Given the description of an element on the screen output the (x, y) to click on. 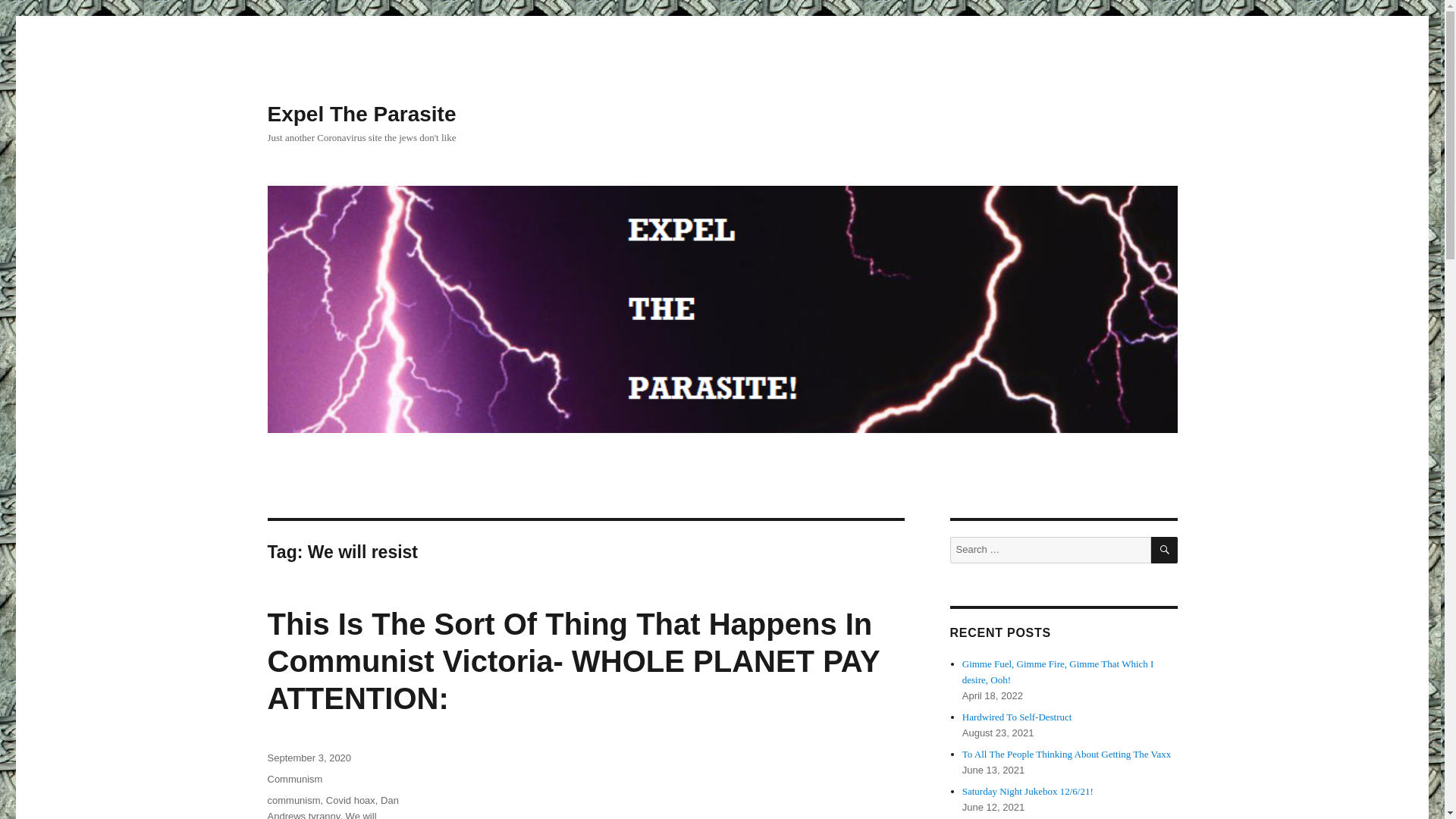
SEARCH (1164, 550)
We will resist (320, 814)
Covid hoax (350, 799)
communism (293, 799)
Communism (293, 778)
To All The People Thinking About Getting The Vaxx (1066, 754)
Expel The Parasite (360, 114)
Gimme Fuel, Gimme Fire, Gimme That Which I desire, Ooh! (1058, 671)
Latest News From Fascist Melbourne (676, 784)
